Given the description of an element on the screen output the (x, y) to click on. 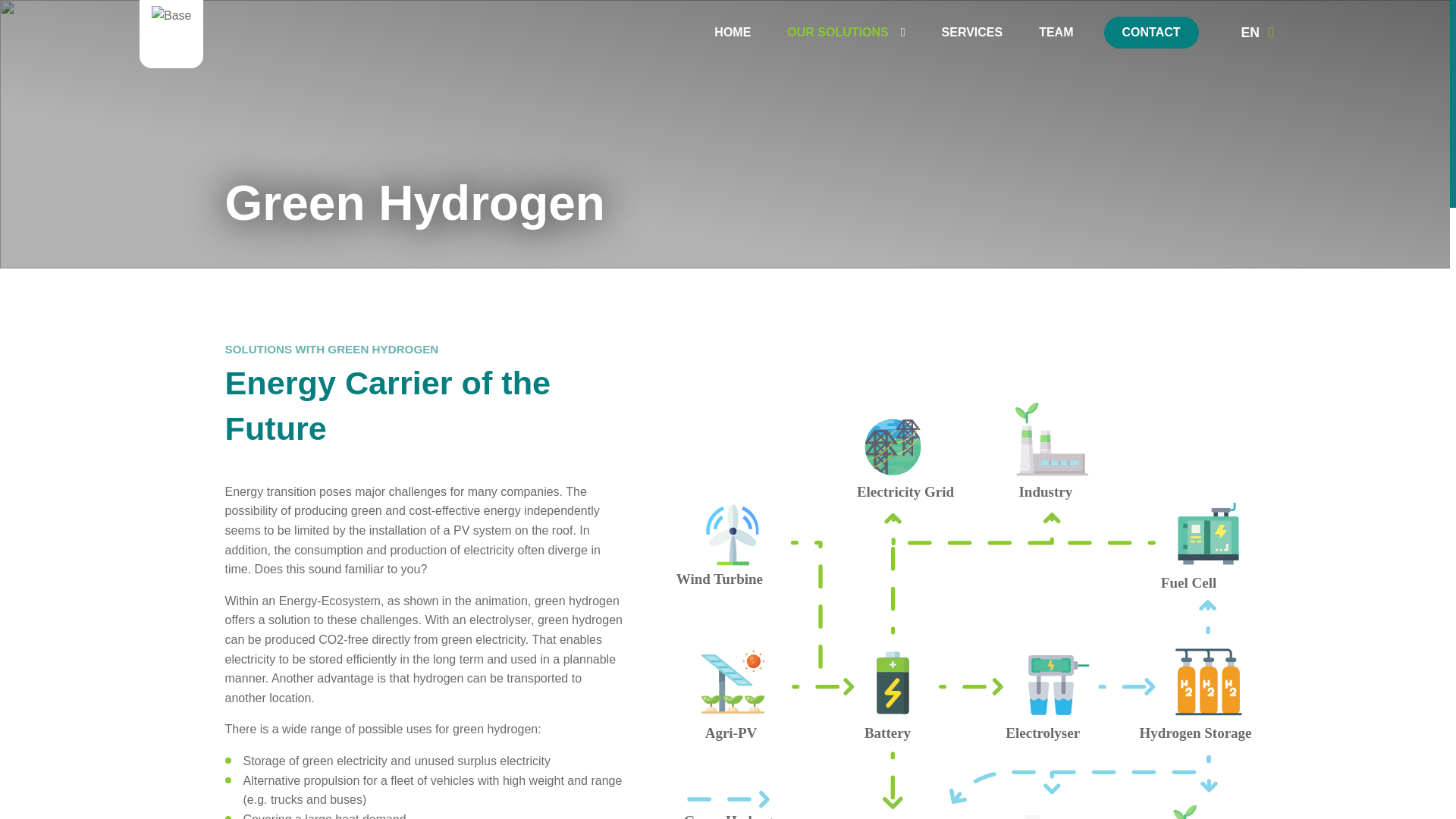
TEAM (1055, 32)
Services (972, 32)
Home (731, 32)
HOME (731, 32)
CONTACT (1150, 32)
Our solutions (845, 32)
Team (1055, 32)
EN (1256, 32)
En (1256, 32)
OUR SOLUTIONS (845, 32)
Contact (1150, 32)
SERVICES (972, 32)
